Given the description of an element on the screen output the (x, y) to click on. 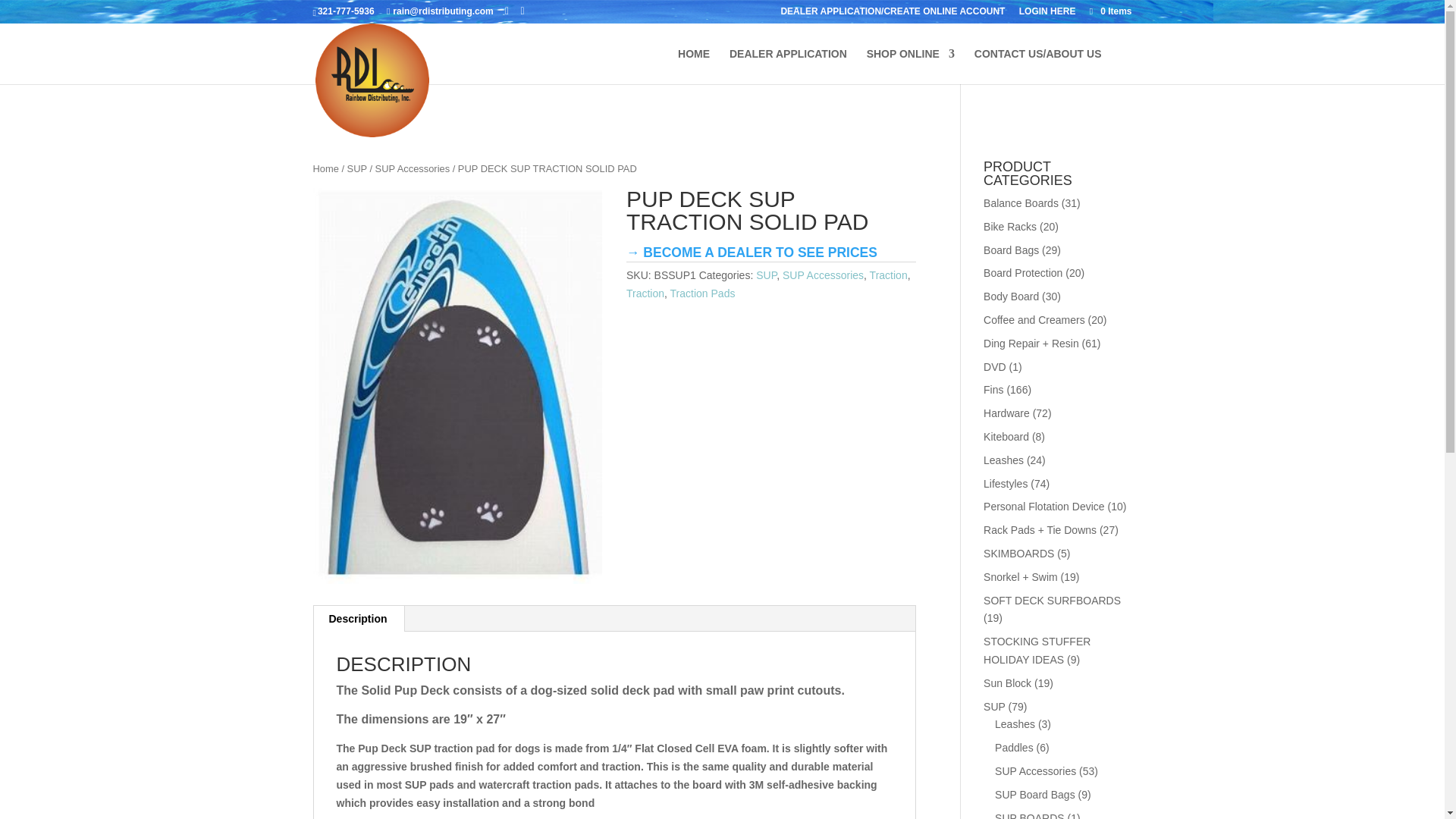
HOME (694, 66)
0 Items (1108, 10)
SHOP ONLINE (910, 66)
DEALER APPLICATION (788, 66)
LOGIN HERE (1047, 14)
